Given the description of an element on the screen output the (x, y) to click on. 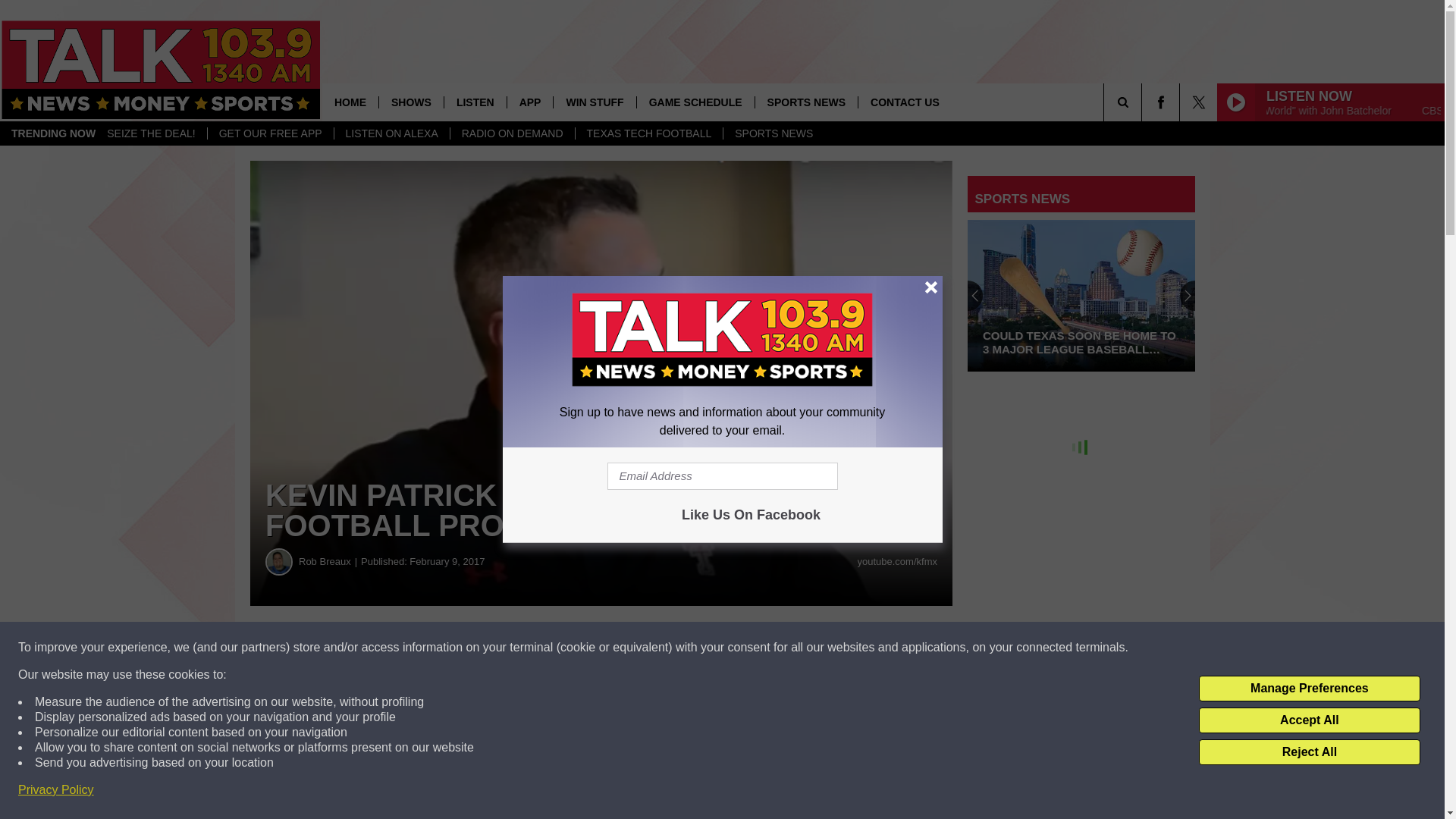
GET OUR FREE APP (269, 133)
SHOWS (411, 102)
SPORTS NEWS (805, 102)
Reject All (1309, 751)
Accept All (1309, 720)
Share on Facebook (460, 647)
APP (529, 102)
LISTEN ON ALEXA (391, 133)
Privacy Policy (55, 789)
GAME SCHEDULE (695, 102)
SPORTS NEWS (773, 133)
SEARCH (1144, 102)
Share on Twitter (741, 647)
SEIZE THE DEAL! (151, 133)
Manage Preferences (1309, 688)
